Given the description of an element on the screen output the (x, y) to click on. 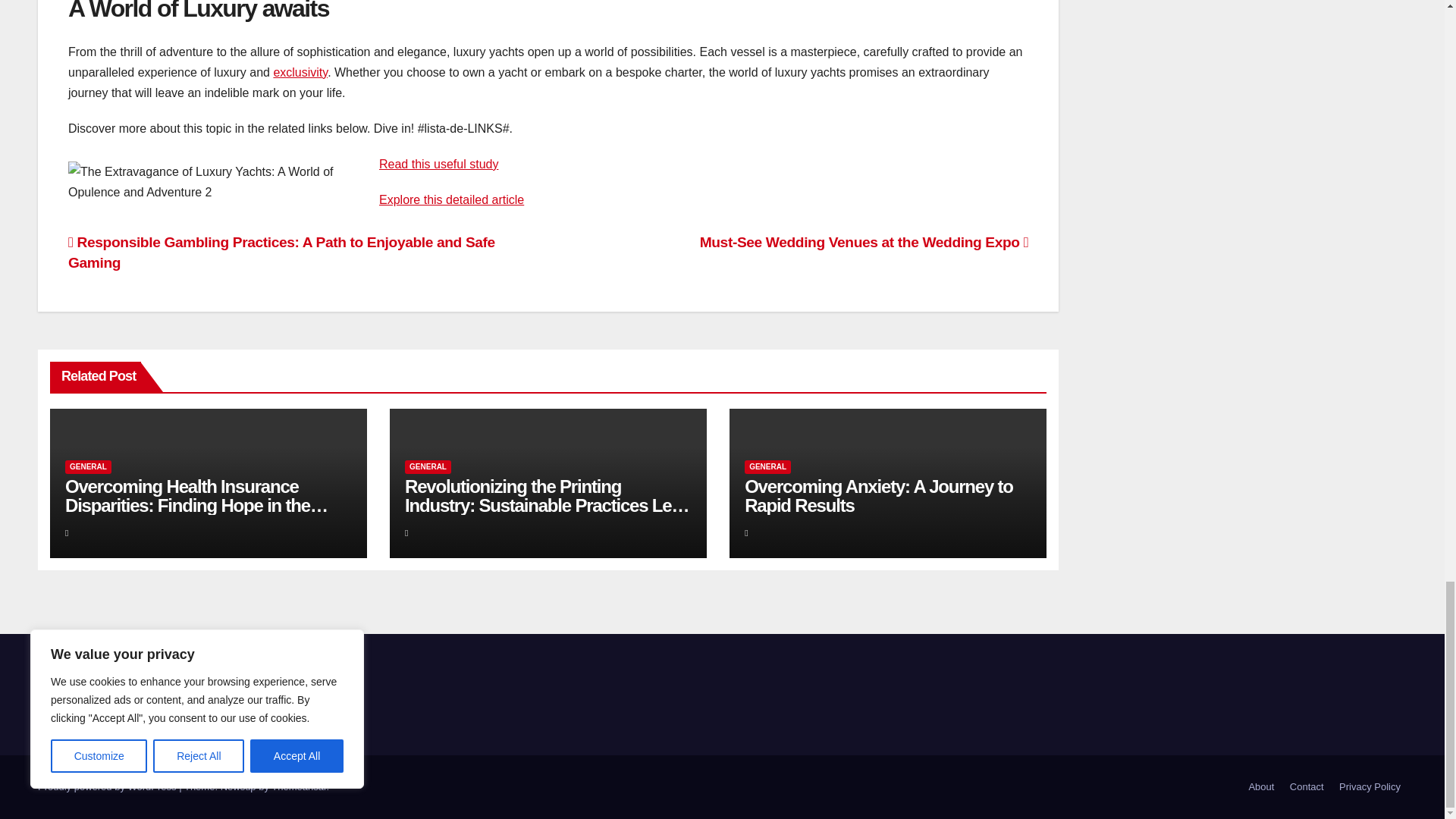
Overcoming Anxiety: A Journey to Rapid Results (878, 495)
Explore this detailed article (451, 199)
GENERAL (427, 467)
Permalink to: Overcoming Anxiety: A Journey to Rapid Results (878, 495)
Read this useful study (437, 164)
Contact (1307, 786)
GENERAL (88, 467)
About (1260, 786)
exclusivity (300, 72)
Must-See Wedding Venues at the Wedding Expo (864, 242)
